Given the description of an element on the screen output the (x, y) to click on. 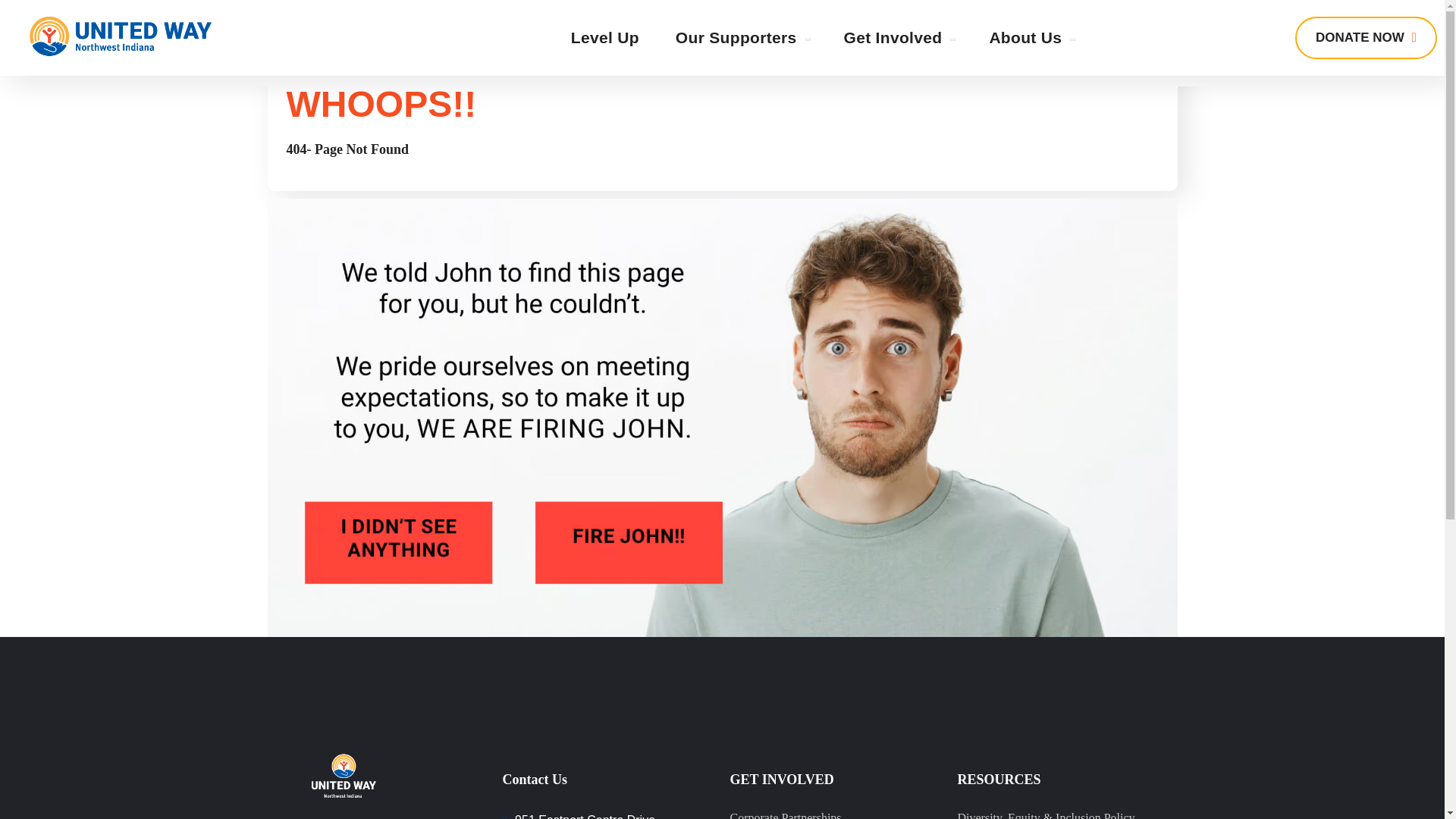
Our Supporters (741, 37)
Level Up (605, 37)
Get Involved (898, 37)
About Us (1030, 37)
DONATE NOW (1366, 37)
